Given the description of an element on the screen output the (x, y) to click on. 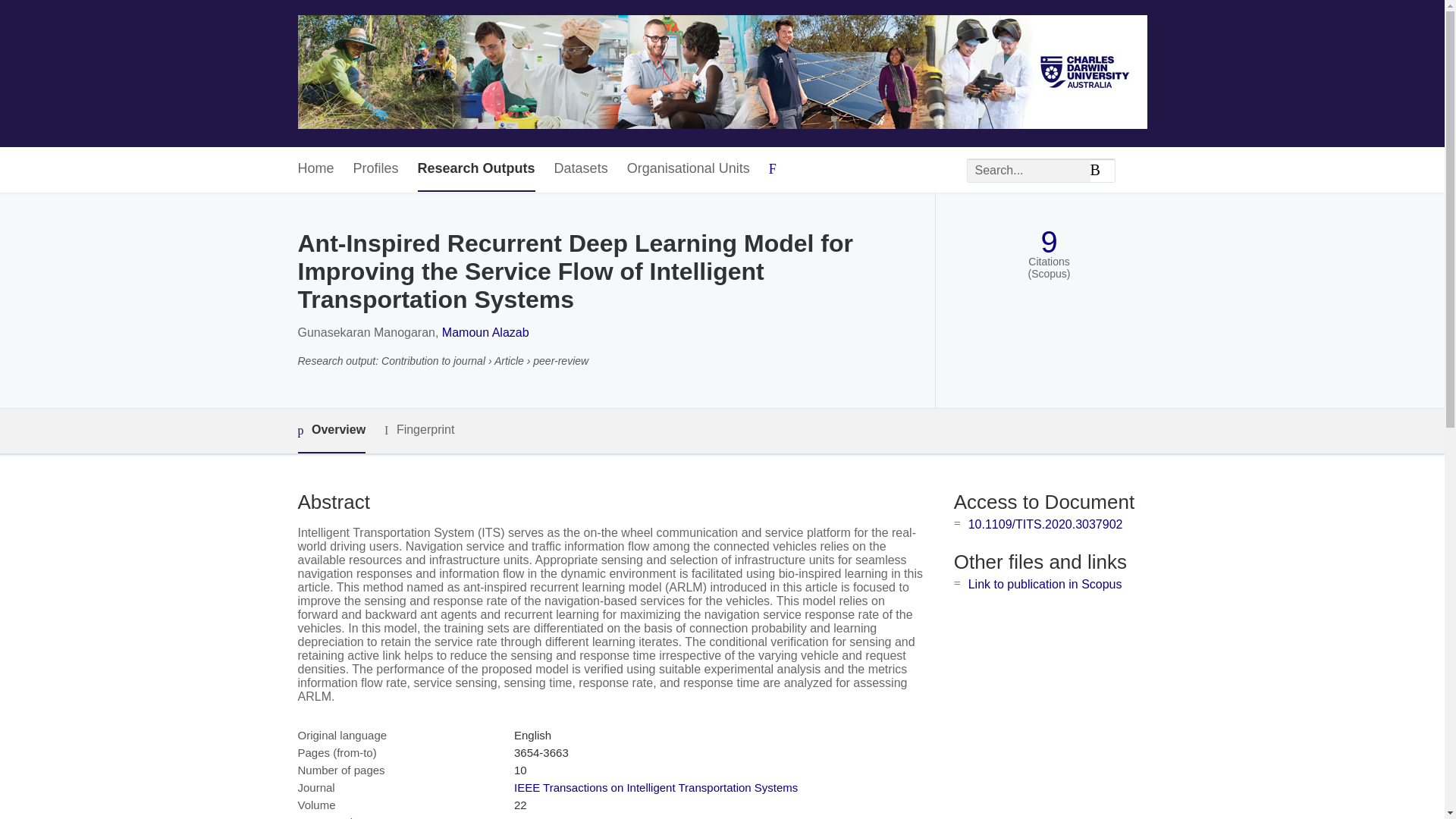
IEEE Transactions on Intelligent Transportation Systems (655, 787)
Link to publication in Scopus (1045, 584)
Organisational Units (688, 169)
Datasets (581, 169)
Charles Darwin University Home (722, 73)
Profiles (375, 169)
Overview (331, 430)
Research Outputs (476, 169)
Fingerprint (419, 430)
